Given the description of an element on the screen output the (x, y) to click on. 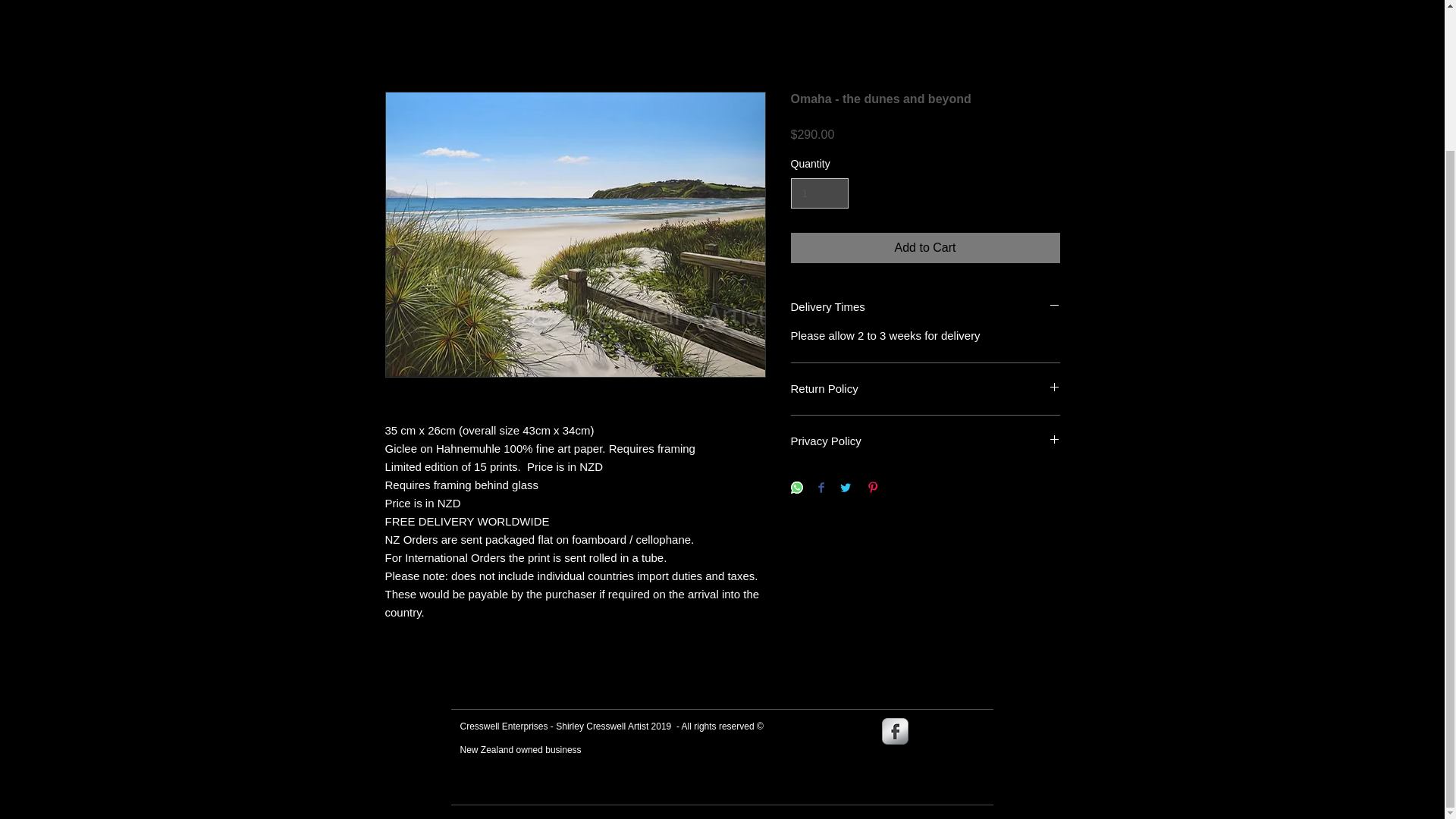
1 (818, 193)
Delivery Times (924, 306)
Add to Cart (924, 247)
Privacy Policy (924, 441)
Return Policy (924, 388)
